Given the description of an element on the screen output the (x, y) to click on. 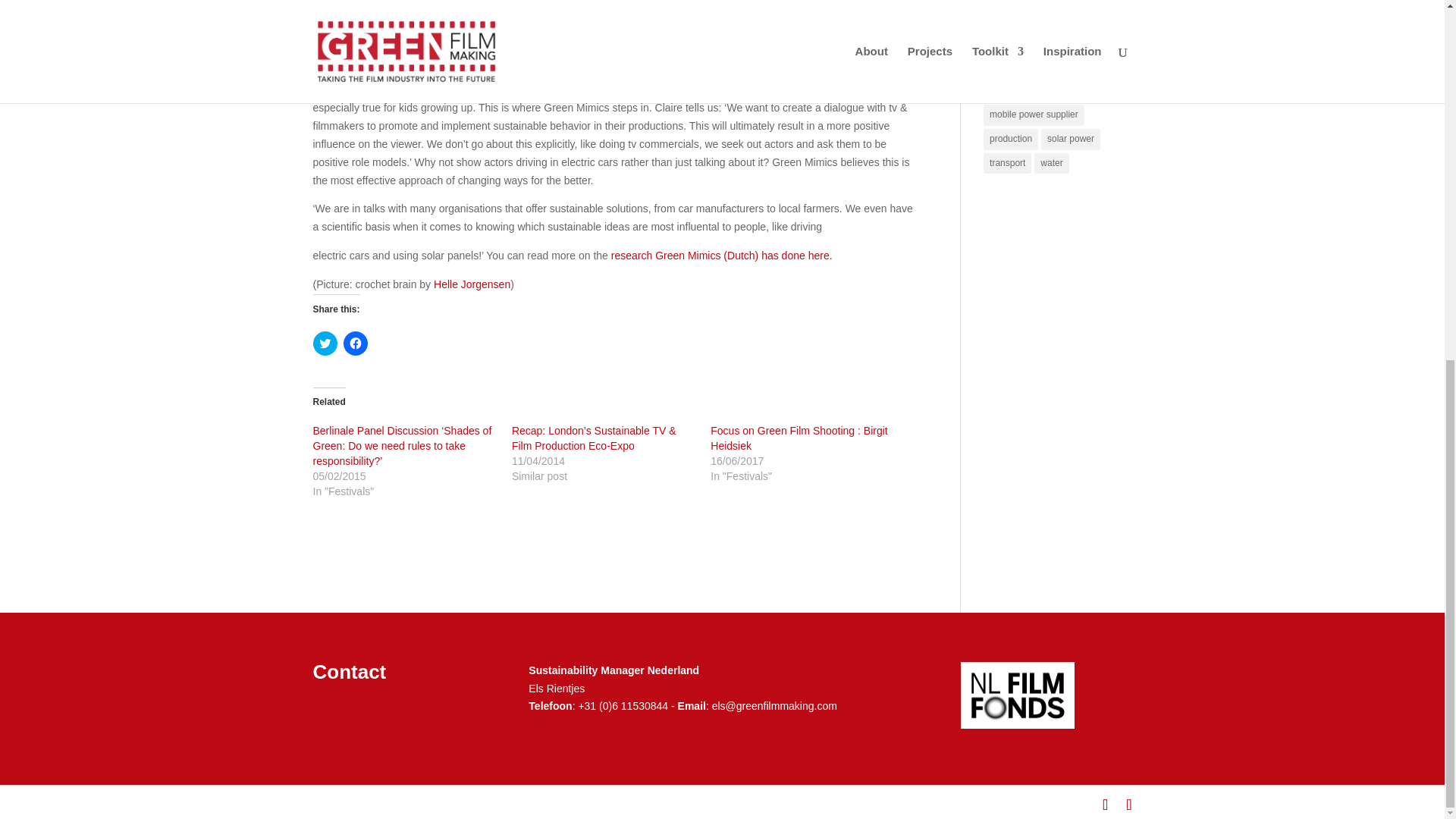
Green Mimics (370, 42)
Click to share on Twitter (324, 343)
Helle Jorgensen (472, 284)
Click to share on Facebook (354, 343)
Focus on Green Film Shooting : Birgit Heidsiek (798, 438)
Focus on Green Film Shooting : Birgit Heidsiek (798, 438)
